Given the description of an element on the screen output the (x, y) to click on. 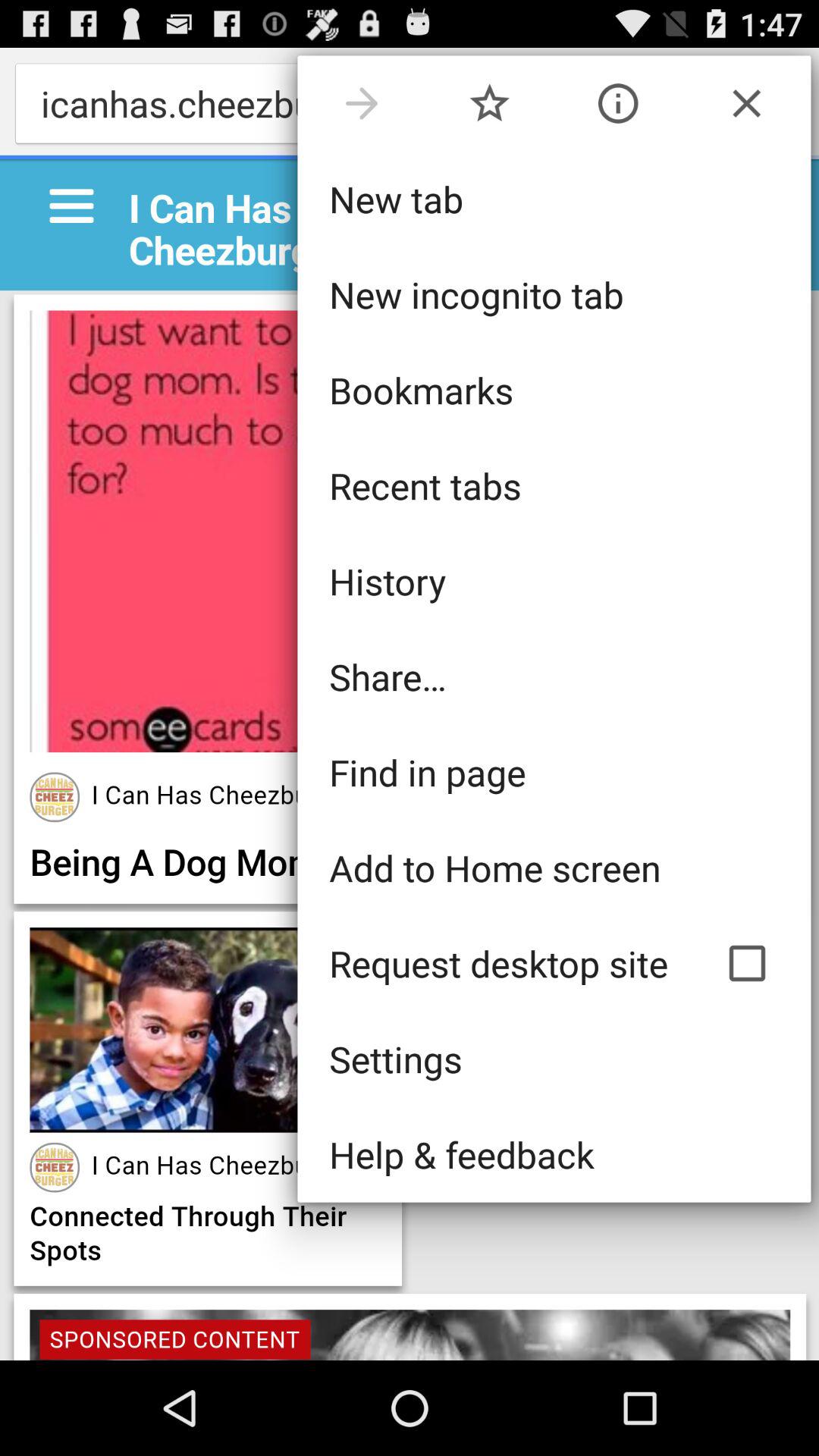
click icon below the history icon (554, 676)
